Given the description of an element on the screen output the (x, y) to click on. 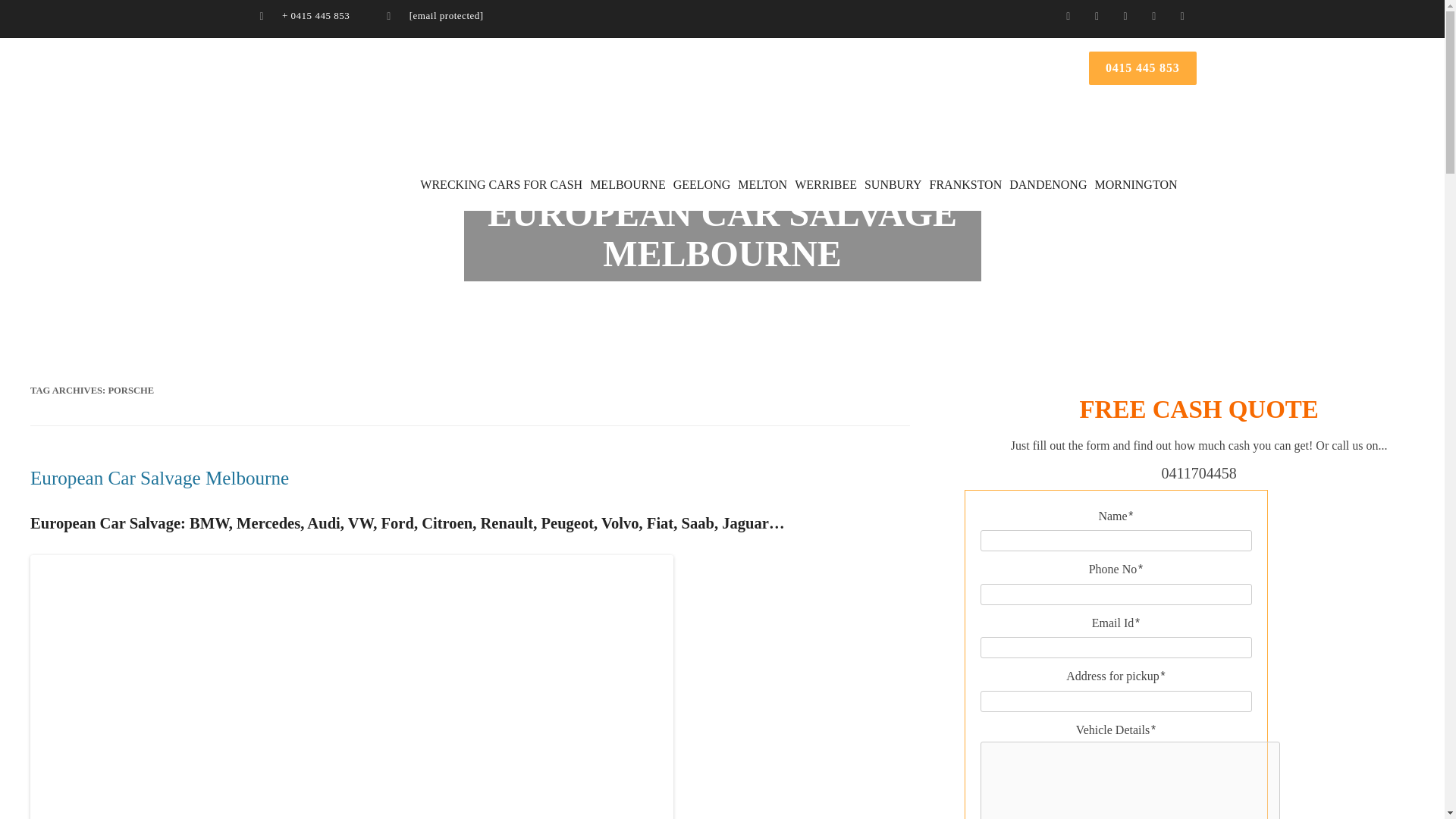
MELBOURNE (627, 184)
European Car Salvage Melbourne (159, 477)
FRANKSTON (966, 184)
GEELONG (701, 184)
SUNBURY (892, 184)
MORNINGTON (1134, 184)
WERRIBEE (826, 184)
WRECKING CARS FOR CASH (500, 184)
MELTON (762, 184)
0415 445 853 (1142, 68)
DANDENONG (1047, 184)
